Given the description of an element on the screen output the (x, y) to click on. 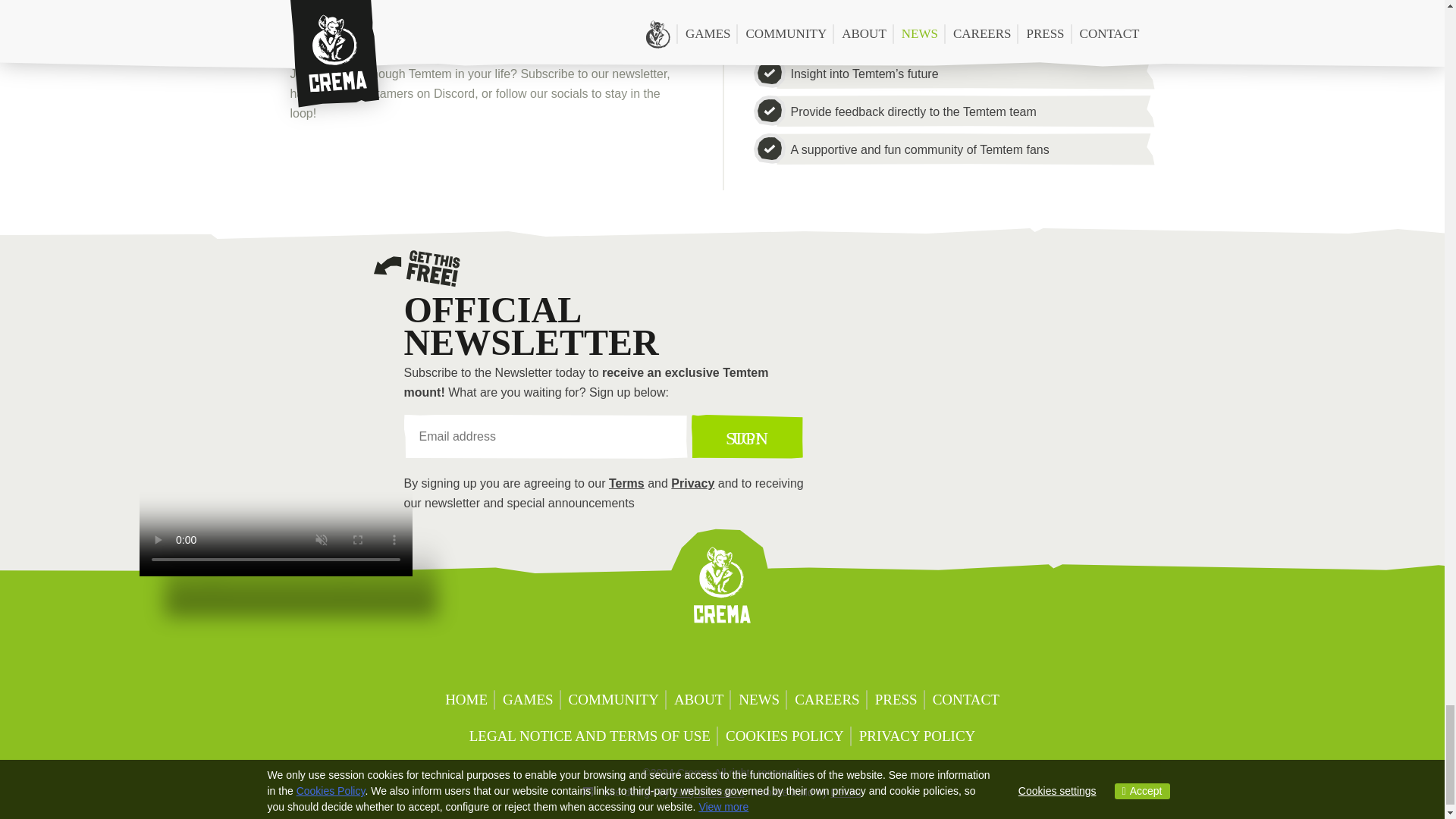
X (662, 657)
CAREERS (827, 700)
LEGAL NOTICE AND TERMS OF USE (589, 736)
Discord (310, 162)
Instagram (820, 657)
Steam (431, 162)
Terms (626, 482)
Discord (622, 657)
Facebook (492, 162)
Facebook (741, 657)
GAMES (527, 700)
HOME (466, 700)
CONTACT (965, 700)
Instagram (613, 162)
SIGN UP! (747, 436)
